Given the description of an element on the screen output the (x, y) to click on. 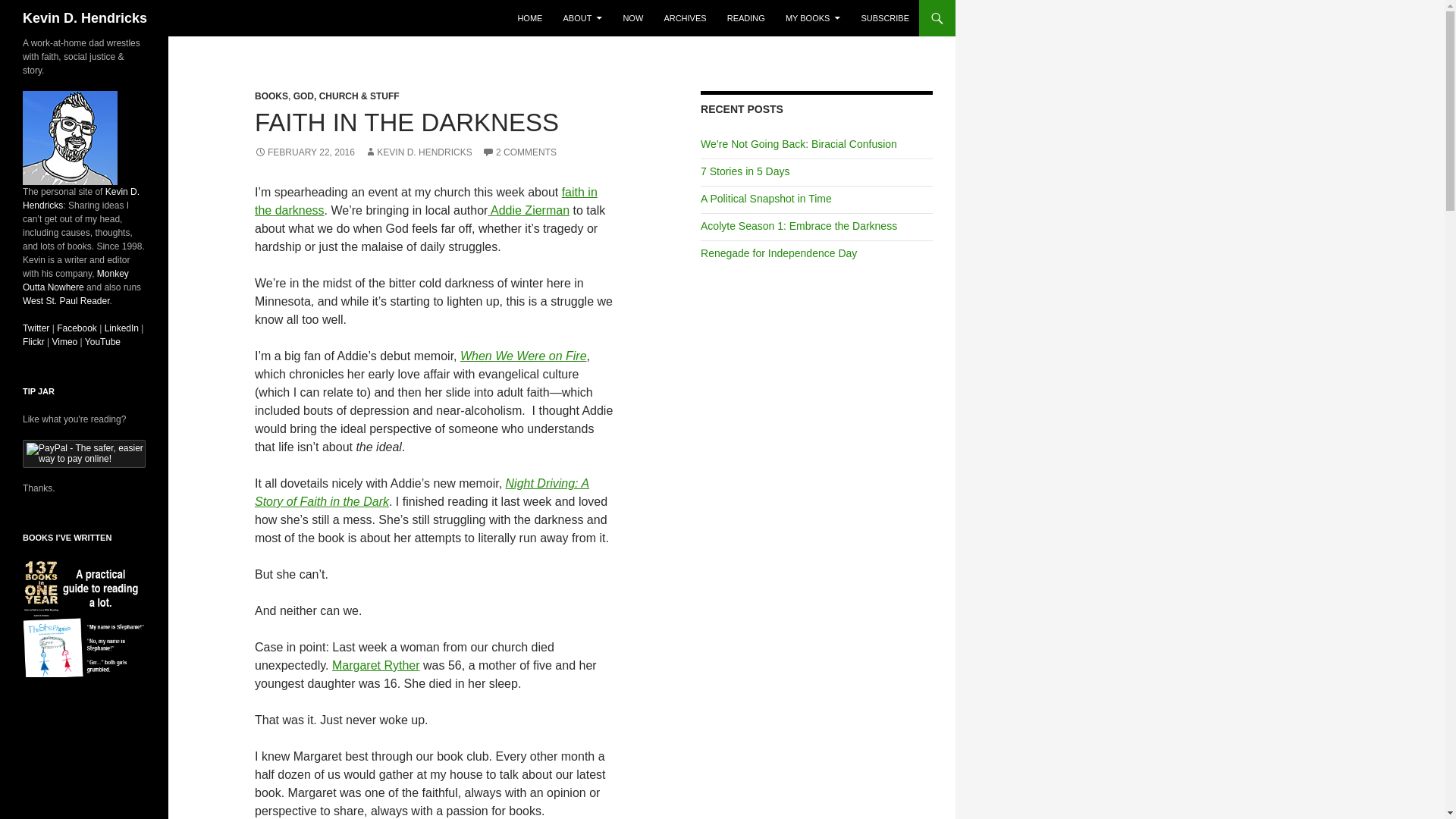
READING (745, 18)
Margaret Ryther (375, 665)
ABOUT (582, 18)
KEVIN D. HENDRICKS (418, 152)
Night Driving: A Story of Faith in the Dark (421, 491)
NOW (632, 18)
Addie Zierman (528, 210)
MY BOOKS (812, 18)
faith in the darkness (425, 201)
SUBSCRIBE (884, 18)
